Given the description of an element on the screen output the (x, y) to click on. 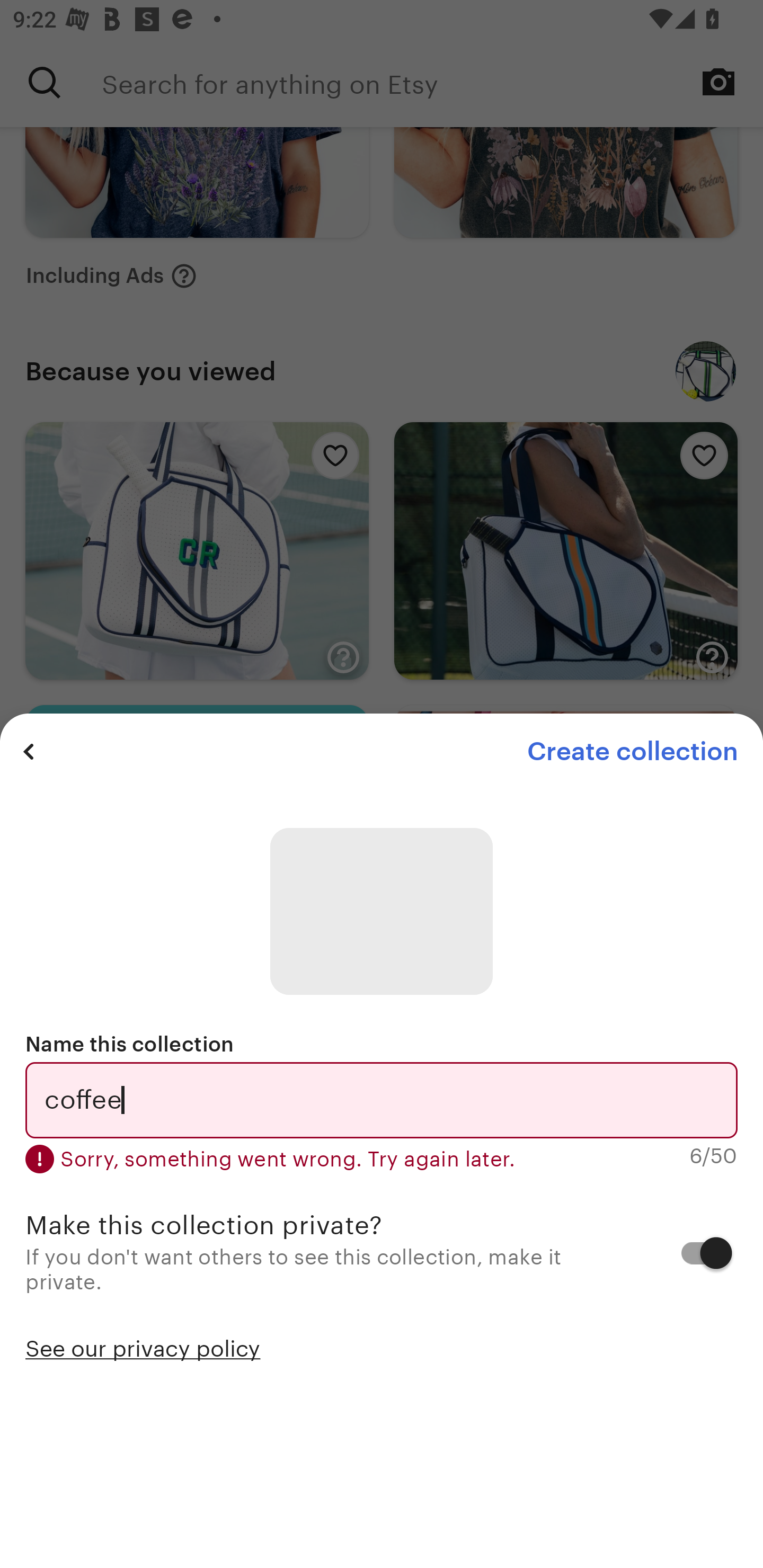
Previous (28, 751)
Create collection (632, 751)
coffee (381, 1099)
See our privacy policy (142, 1346)
